Given the description of an element on the screen output the (x, y) to click on. 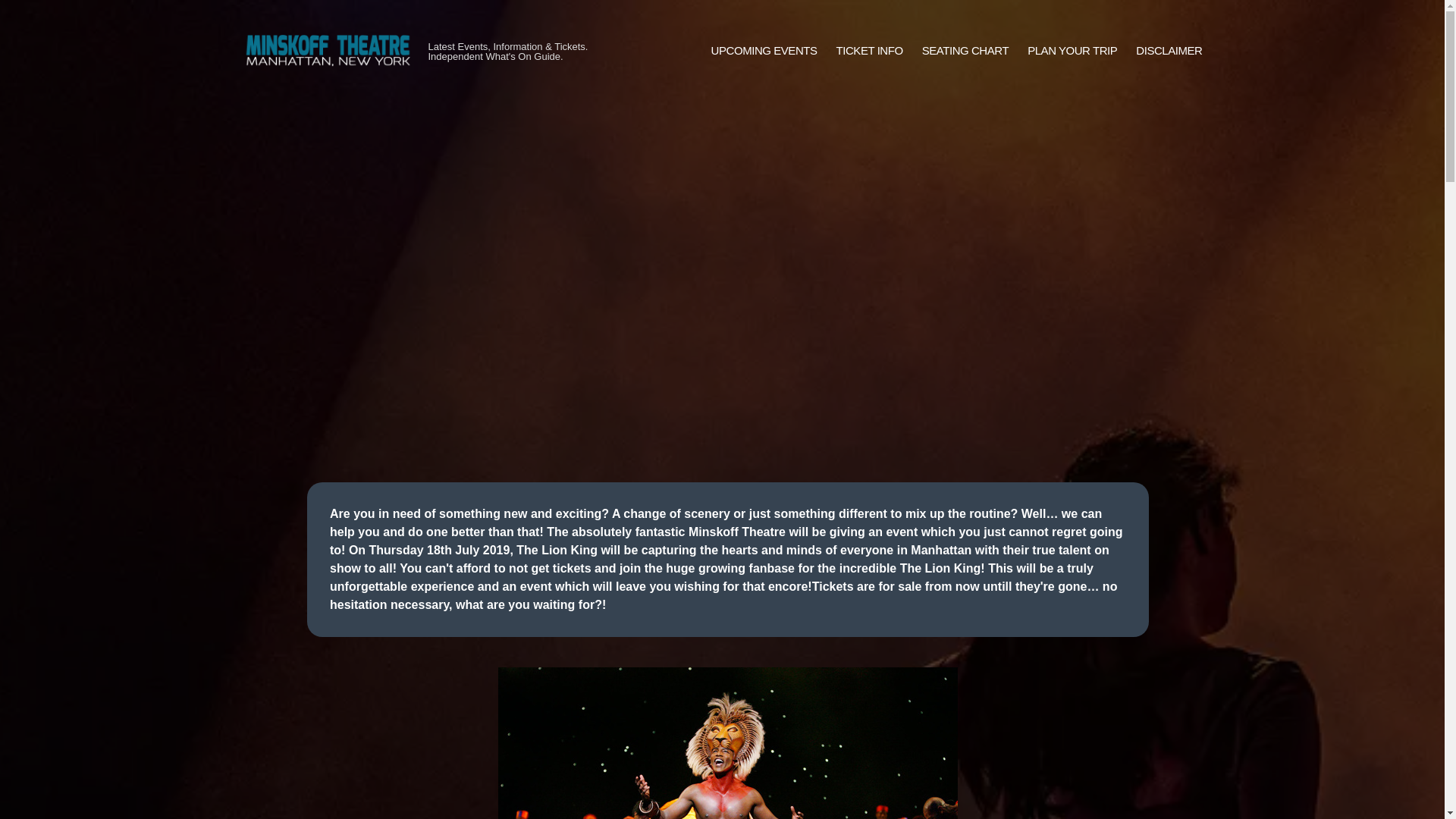
UPCOMING EVENTS (763, 50)
The Lion King at Minskoff Theatre (727, 743)
PLAN YOUR TRIP (1071, 50)
DISCLAIMER (1168, 50)
TICKET INFO (868, 50)
SEATING CHART (965, 50)
